Given the description of an element on the screen output the (x, y) to click on. 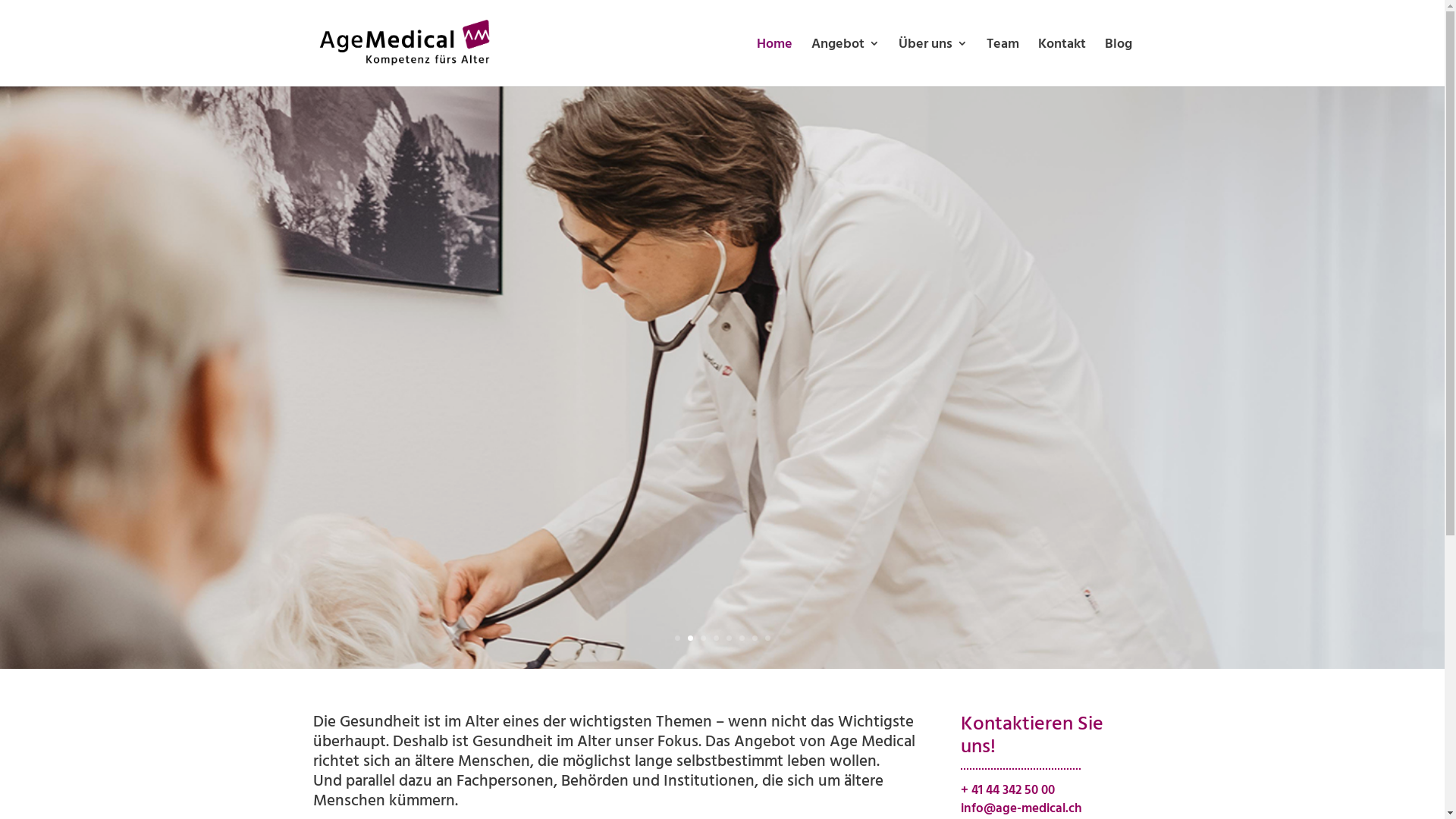
Home Element type: text (774, 61)
2 Element type: text (689, 637)
info@age-medical.ch Element type: text (1021, 806)
4 Element type: text (715, 637)
1 Element type: text (677, 637)
8 Element type: text (766, 637)
6 Element type: text (740, 637)
3 Element type: text (703, 637)
5 Element type: text (728, 637)
+ 41 44 342 50 00 Element type: text (1007, 788)
Kontakt Element type: text (1061, 61)
Team Element type: text (1001, 61)
Angebot Element type: text (845, 61)
7 Element type: text (754, 637)
Blog Element type: text (1117, 61)
